Given the description of an element on the screen output the (x, y) to click on. 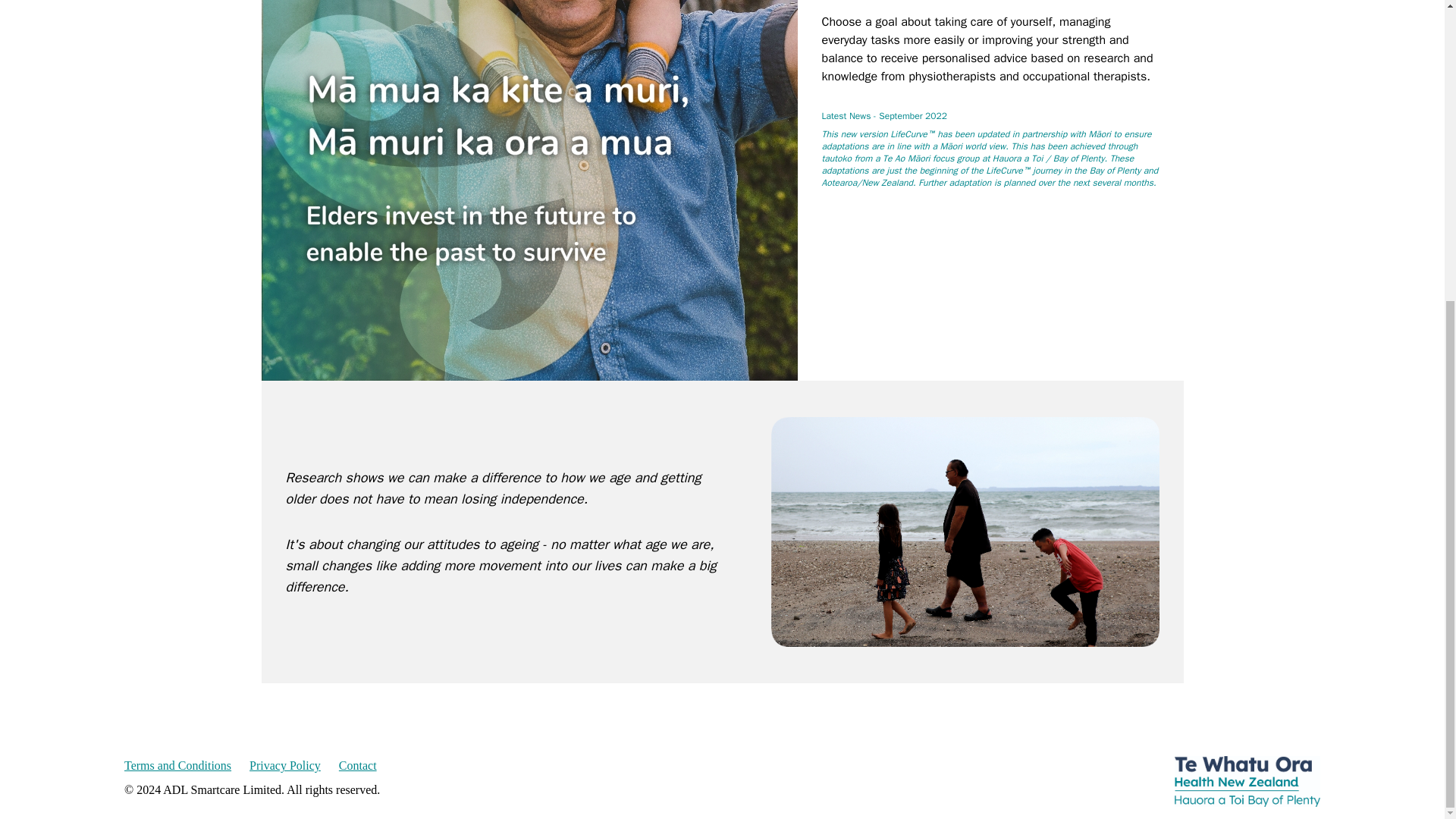
Contact (358, 765)
Privacy Policy (284, 765)
Terms and Conditions (177, 765)
